Given the description of an element on the screen output the (x, y) to click on. 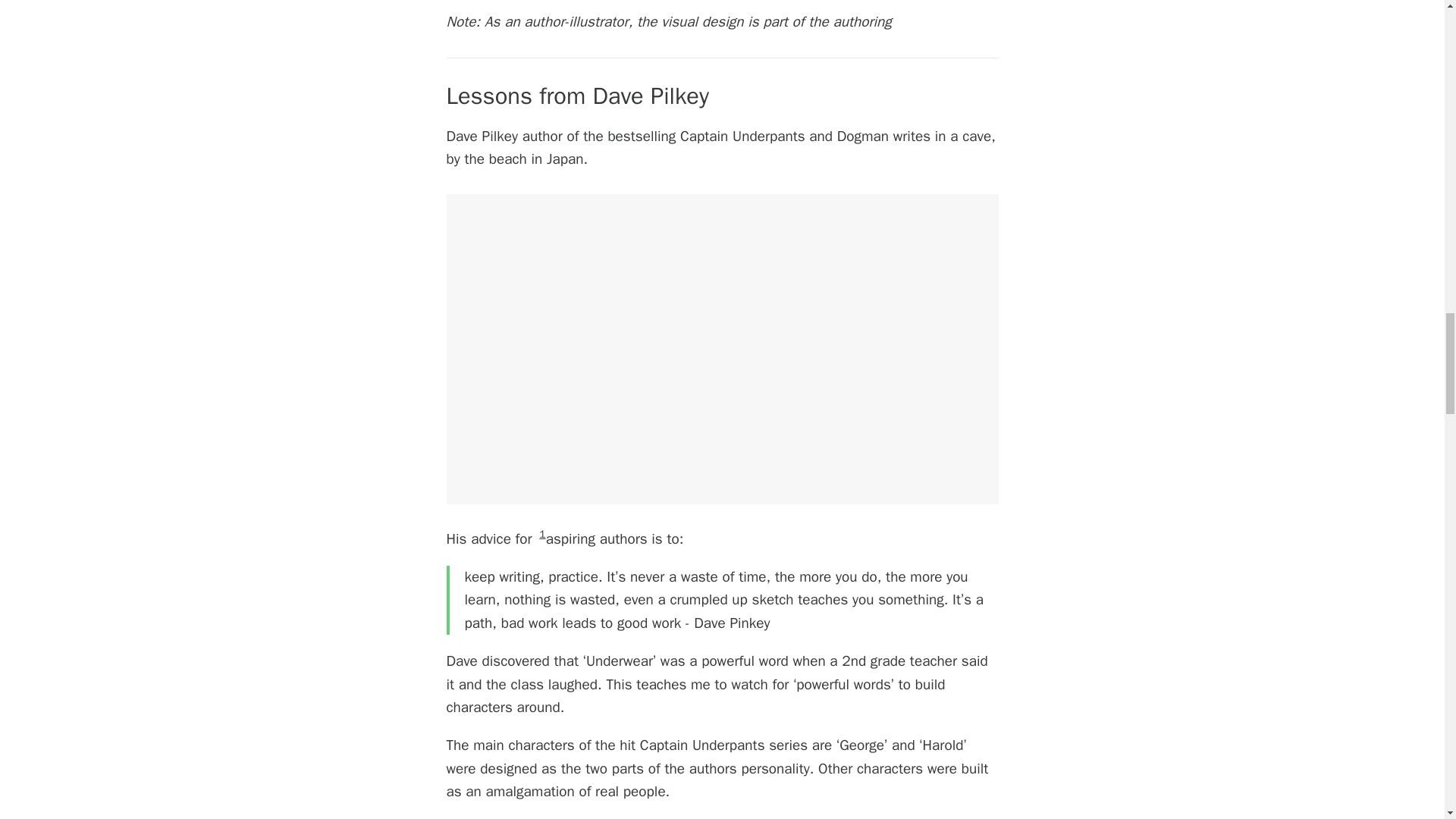
1 (541, 533)
